Given the description of an element on the screen output the (x, y) to click on. 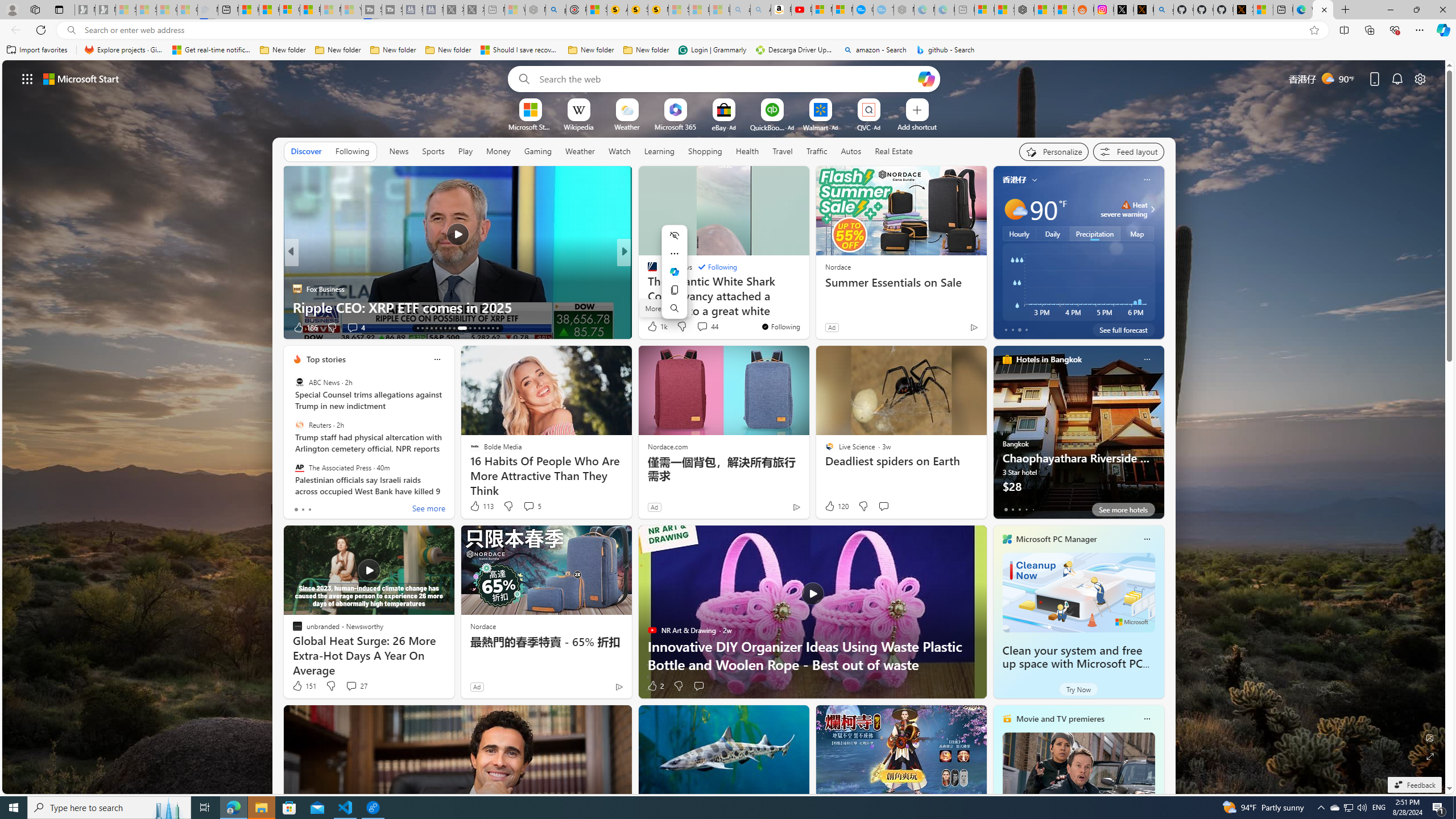
Browser essentials (1394, 29)
tab-0 (1005, 509)
AutomationID: tab-23 (470, 328)
AutomationID: tab-26 (483, 328)
Precipitation (1094, 233)
View comments 5 Comment (528, 505)
Search icon (70, 29)
View comments 44 Comment (706, 326)
AutomationID: tab-25 (478, 328)
Watch (619, 151)
Extraordinary Gift Idea for Birthday & Christmas (807, 307)
New Tab (1346, 9)
Fox Business (296, 288)
